Given the description of an element on the screen output the (x, y) to click on. 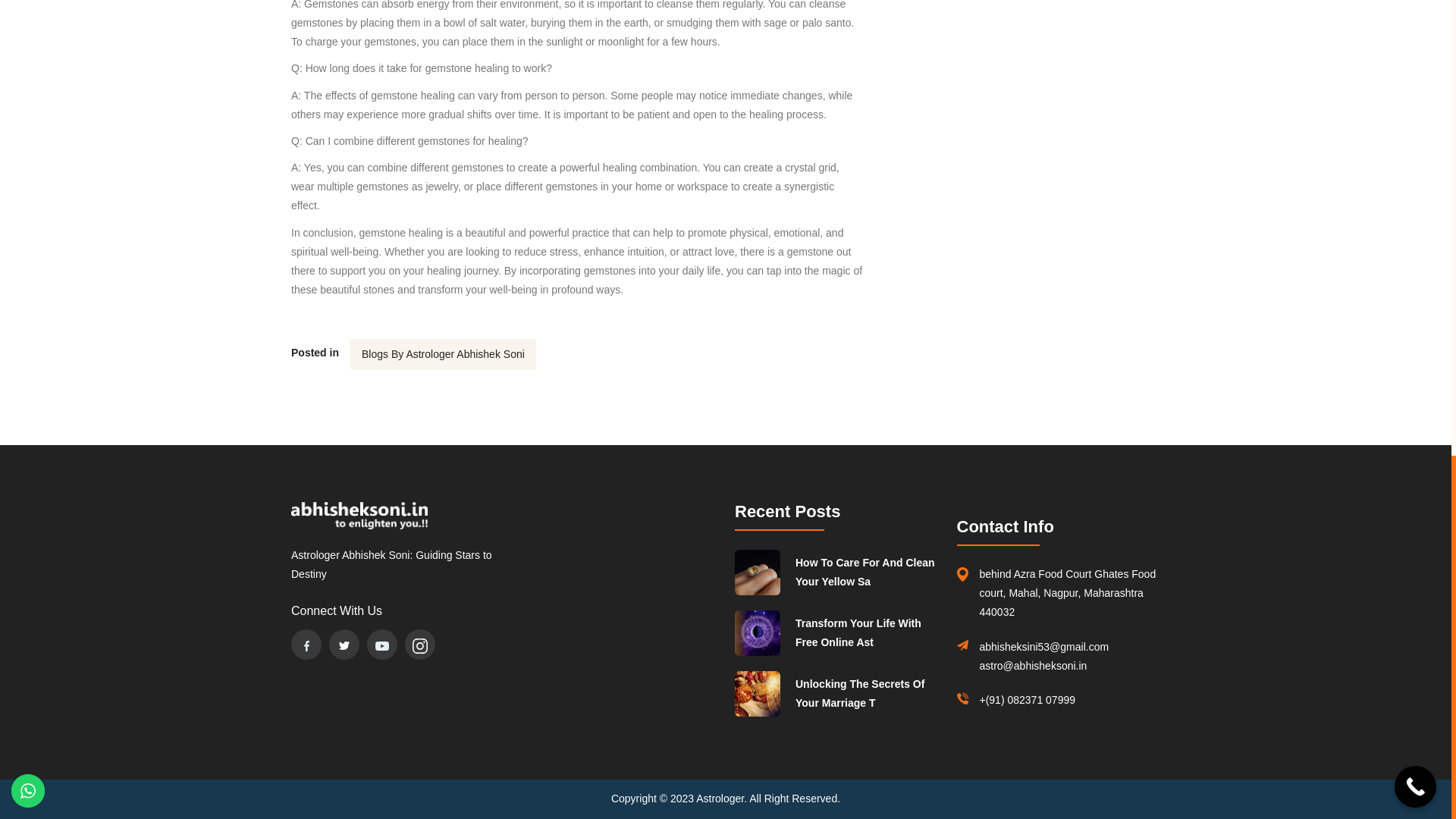
Unlocking The Secrets Of Your Marriage T (866, 693)
Transform Your Life With Free Online Ast (866, 632)
Blogs By Astrologer Abhishek Soni (442, 354)
How To Care For And Clean Your Yellow Sa (866, 572)
